Given the description of an element on the screen output the (x, y) to click on. 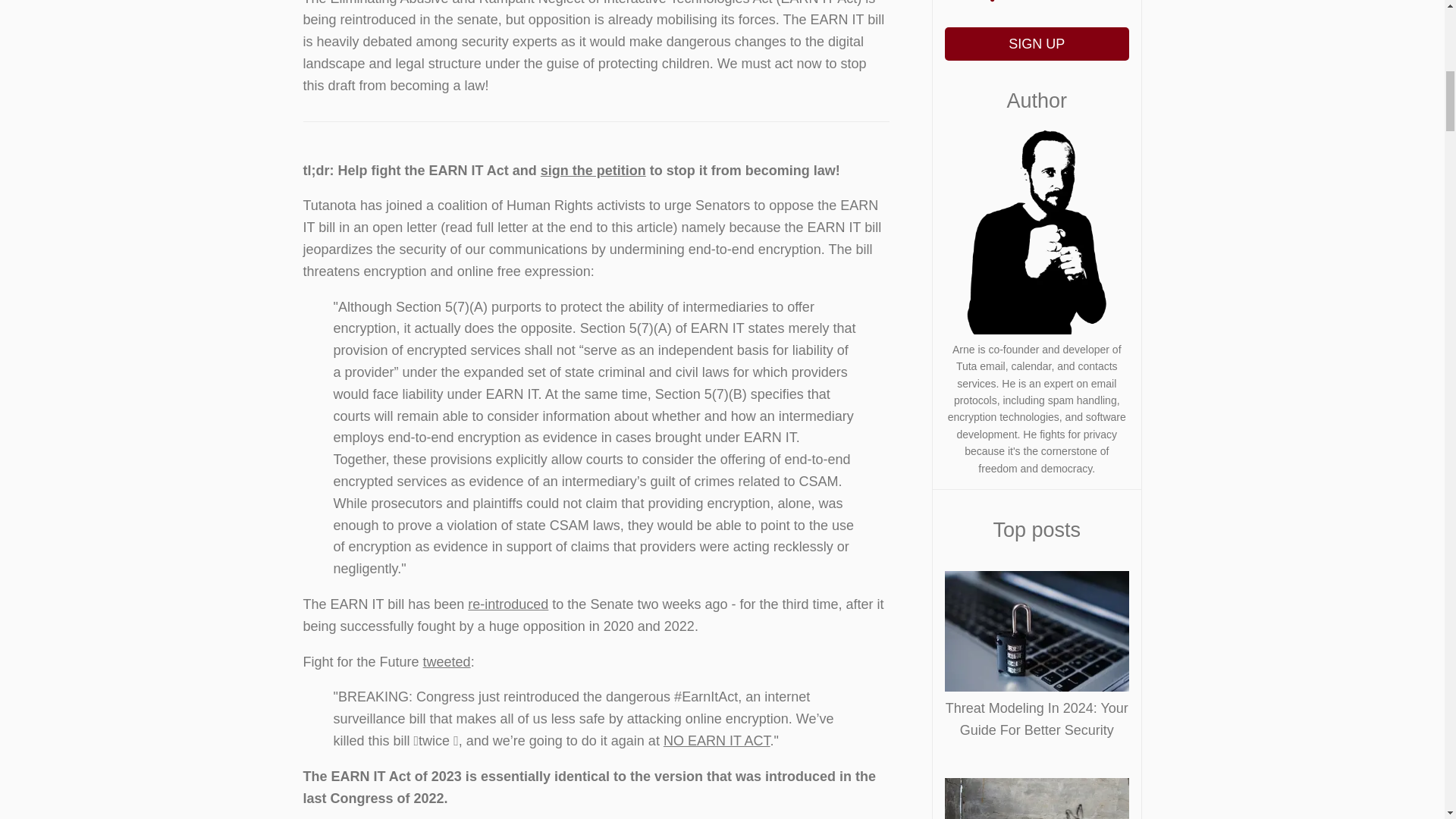
tweeted (446, 661)
re-introduced (507, 604)
sign the petition (593, 170)
NO EARN IT ACT (716, 740)
